Given the description of an element on the screen output the (x, y) to click on. 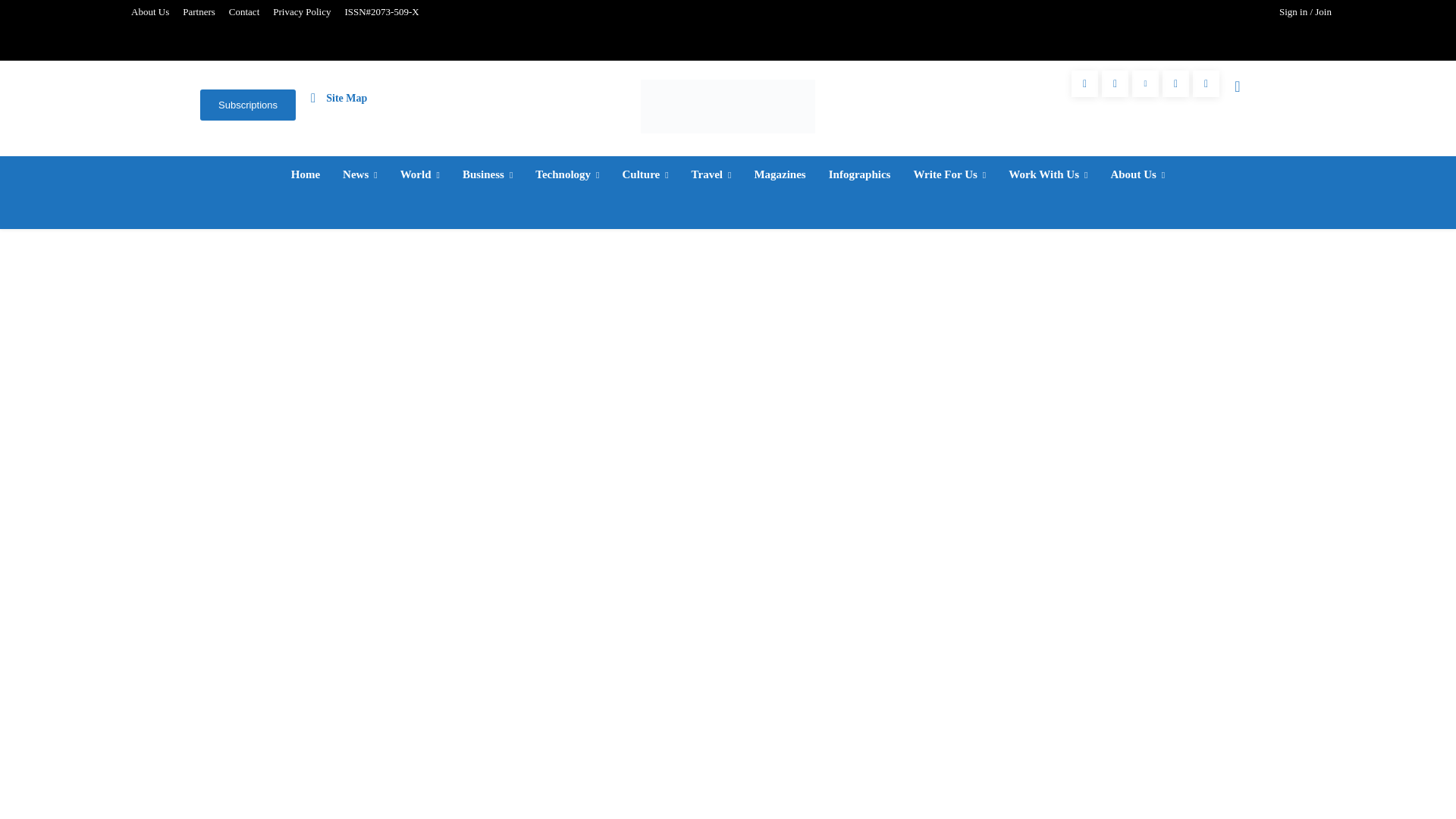
Subscriptions (247, 104)
Facebook (1084, 82)
Site Map (338, 97)
Linkedin (1145, 82)
Twitter (1175, 82)
Instagram (1115, 82)
Youtube (1206, 82)
